Given the description of an element on the screen output the (x, y) to click on. 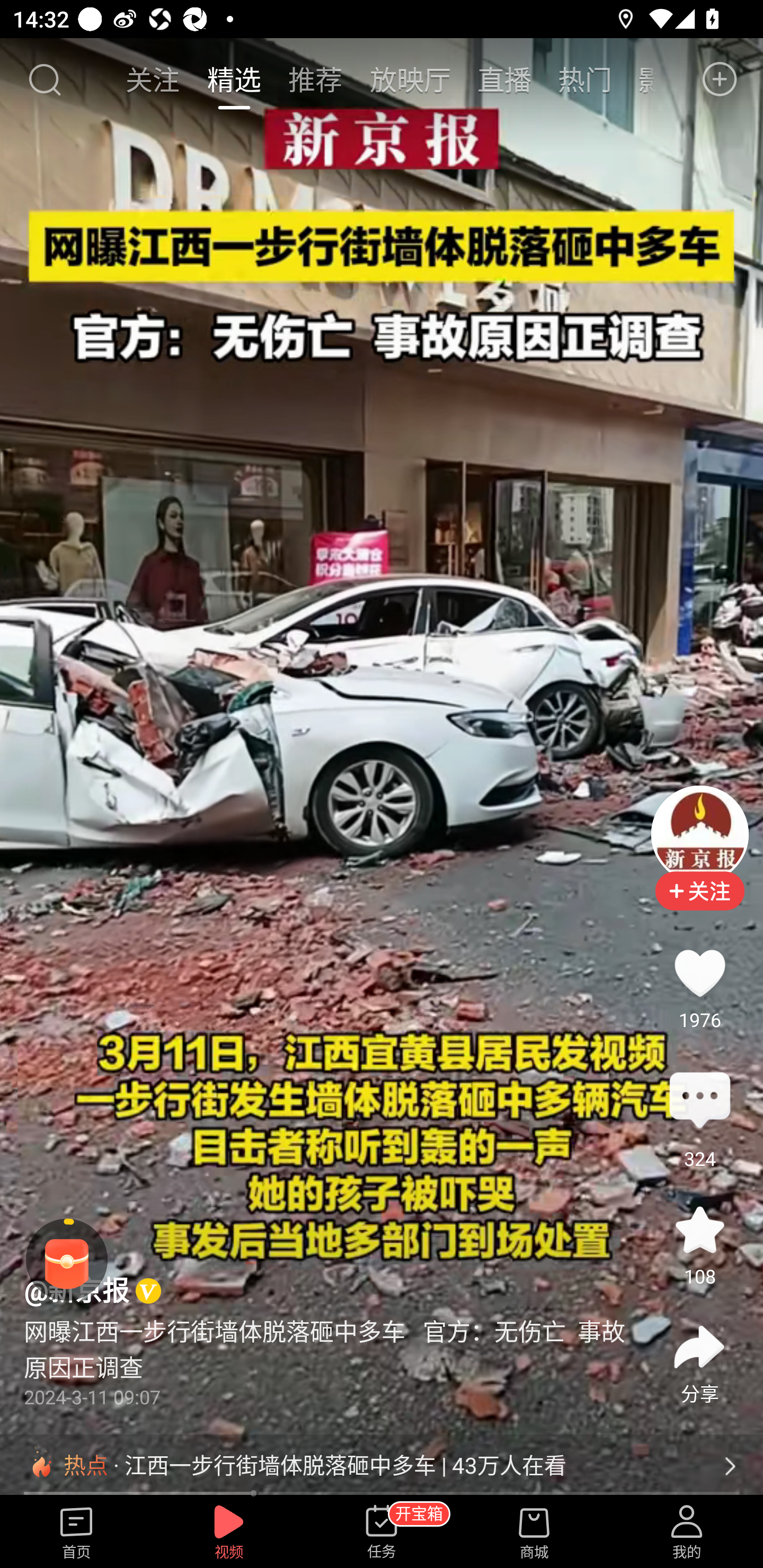
关注 (153, 79)
精选 (233, 79)
推荐 (315, 79)
放映厅 (409, 79)
直播 (504, 79)
热门 (584, 79)
搜索 (44, 79)
发布 (720, 79)
头像 (699, 833)
点赞1976 1976 (699, 972)
评论324 评论 324 (699, 1101)
收藏 108 (699, 1229)
阅读赚金币 (66, 1259)
分享 (699, 1347)
热点  · 江西一步行街墙体脱落砸中多车  | 43万人在看 (381, 1465)
首页 (76, 1532)
视频 (228, 1532)
任务 开宝箱 (381, 1532)
商城 (533, 1532)
我的 (686, 1532)
